Given the description of an element on the screen output the (x, y) to click on. 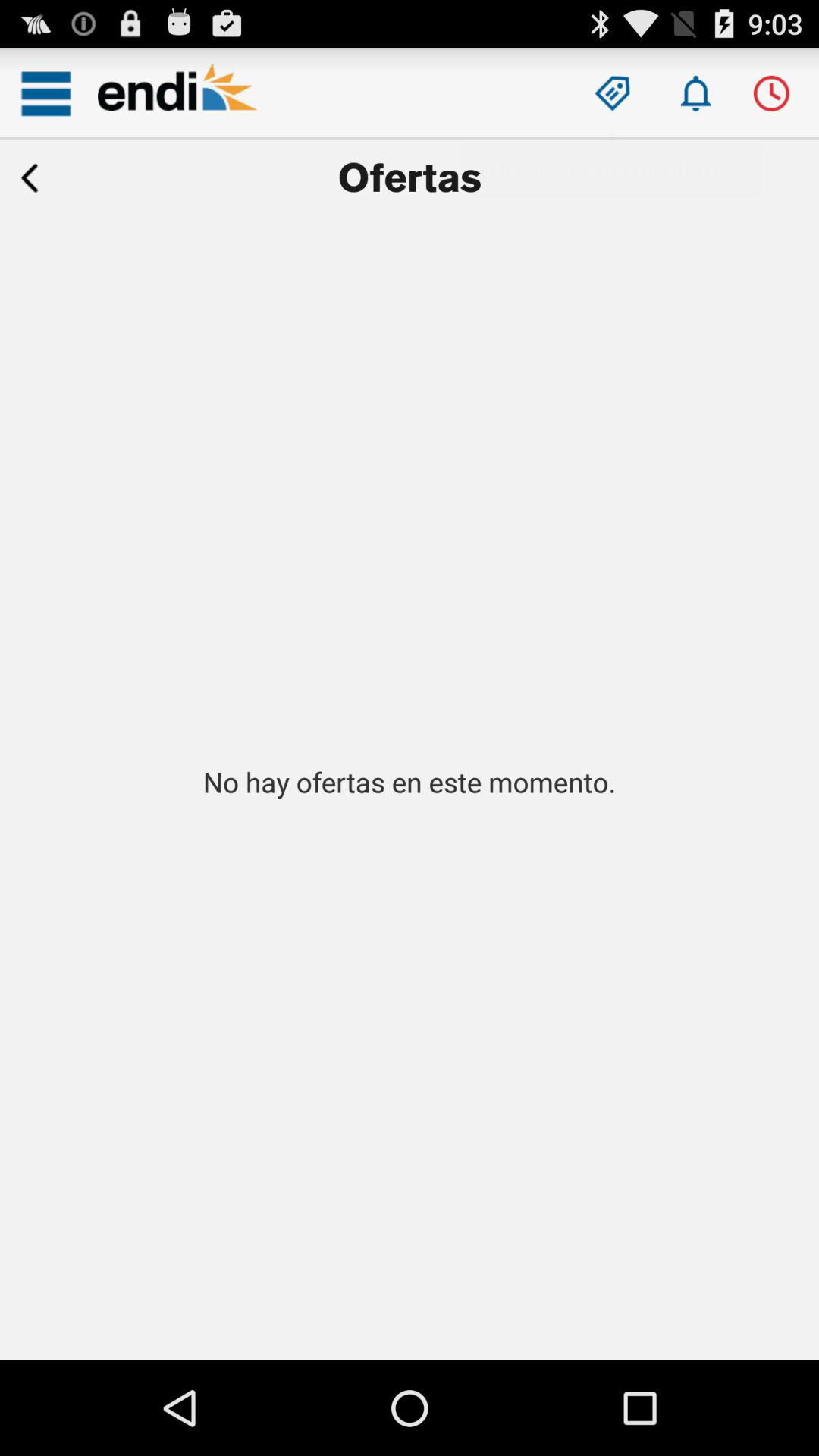
switch clock option (771, 93)
